Given the description of an element on the screen output the (x, y) to click on. 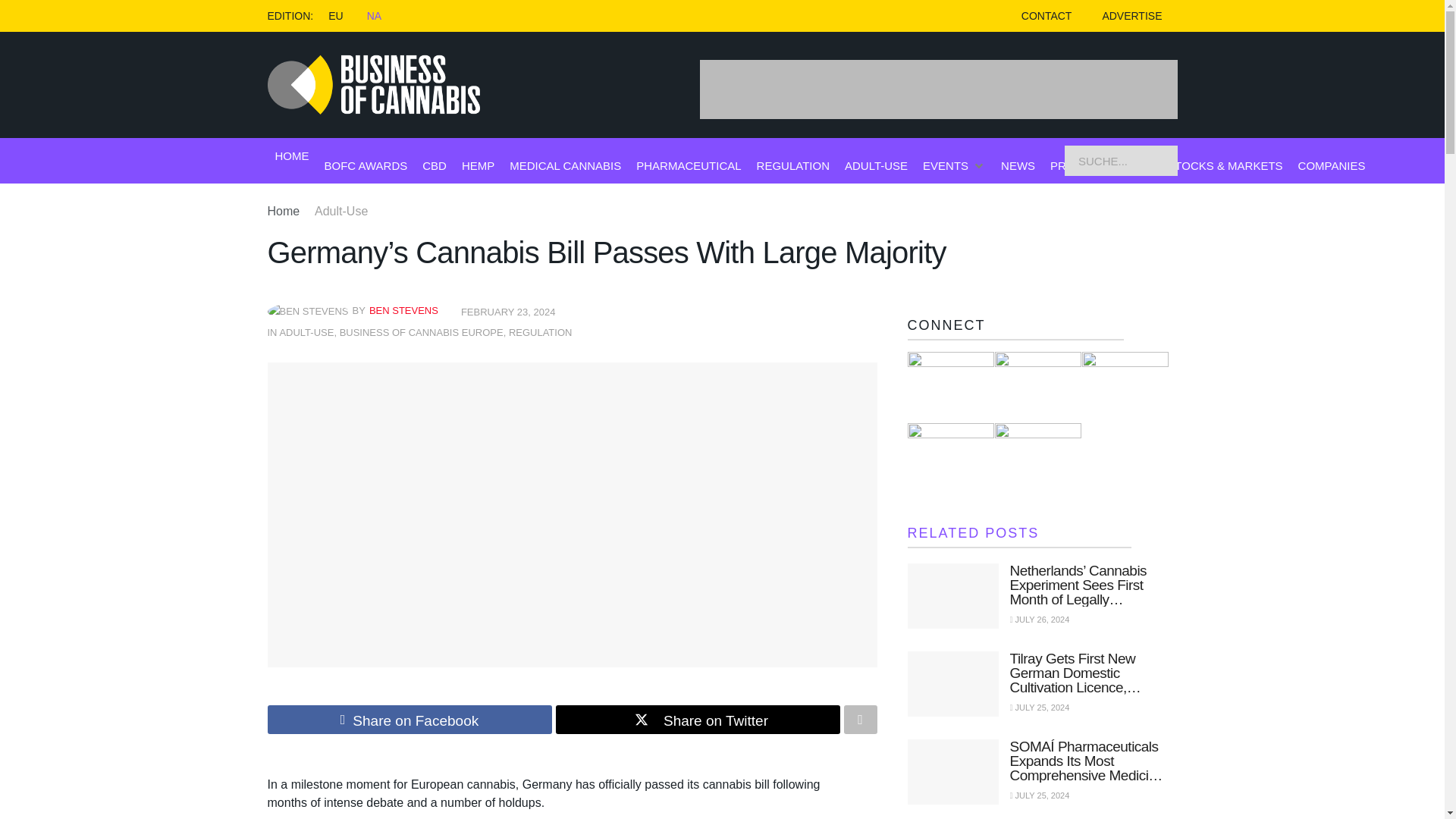
PHARMACEUTICAL (688, 165)
PRESS RELEASES (1100, 165)
COMPANIES (1331, 165)
BEN STEVENS (403, 310)
REGULATION (540, 332)
NEWS (1018, 165)
EVENTS (945, 165)
REGULATION (793, 165)
BUSINESS OF CANNABIS EUROPE (421, 332)
HOME (291, 156)
Share on Facebook (408, 719)
ADVERTISE (1131, 15)
Home (282, 210)
EU (335, 15)
HEMP (478, 165)
